Given the description of an element on the screen output the (x, y) to click on. 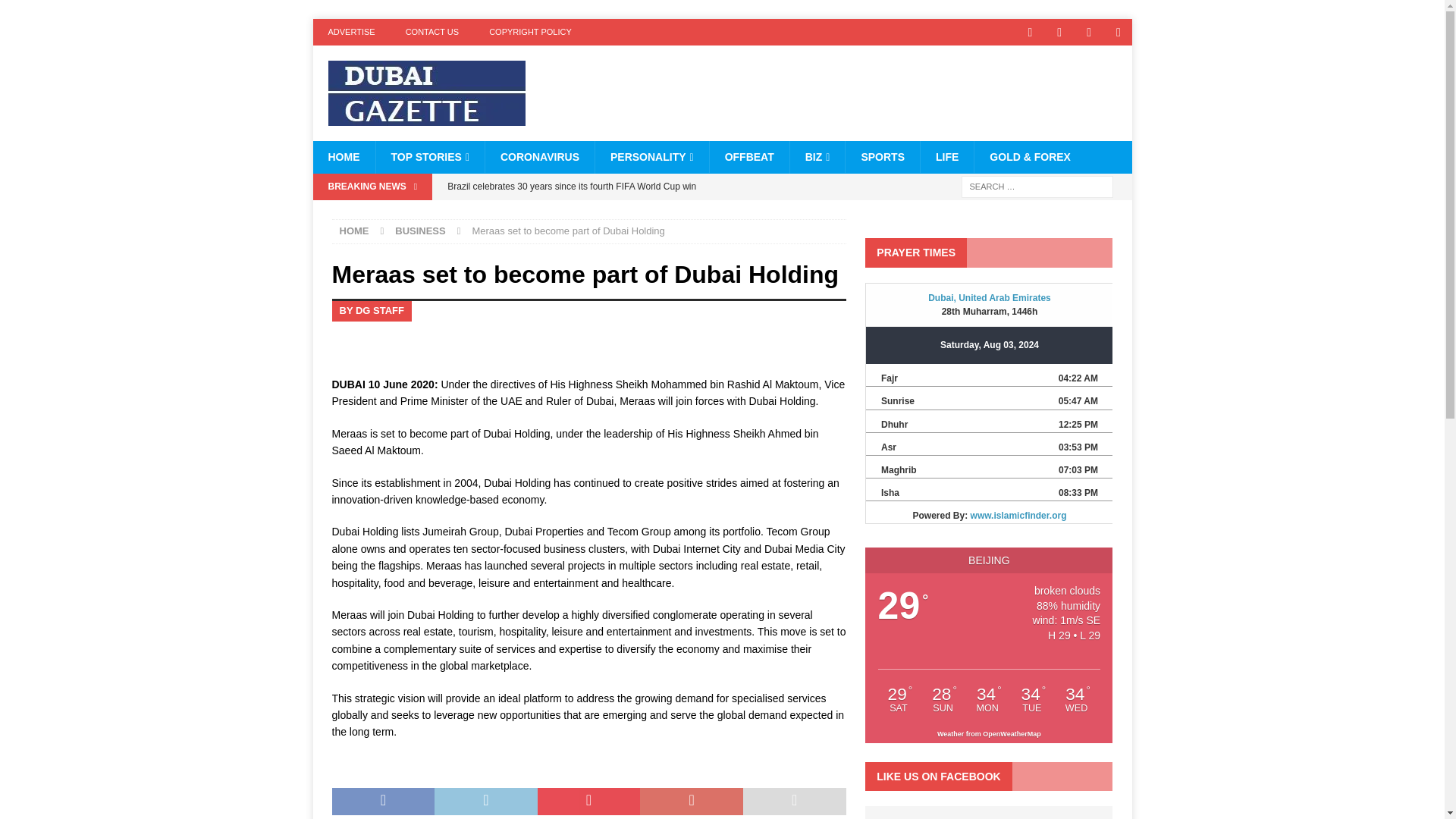
COPYRIGHT POLICY (530, 31)
CONTACT US (432, 31)
TOP STORIES (429, 156)
CORONAVIRUS (539, 156)
PERSONALITY (651, 156)
HOME (343, 156)
ADVERTISE (351, 31)
